Given the description of an element on the screen output the (x, y) to click on. 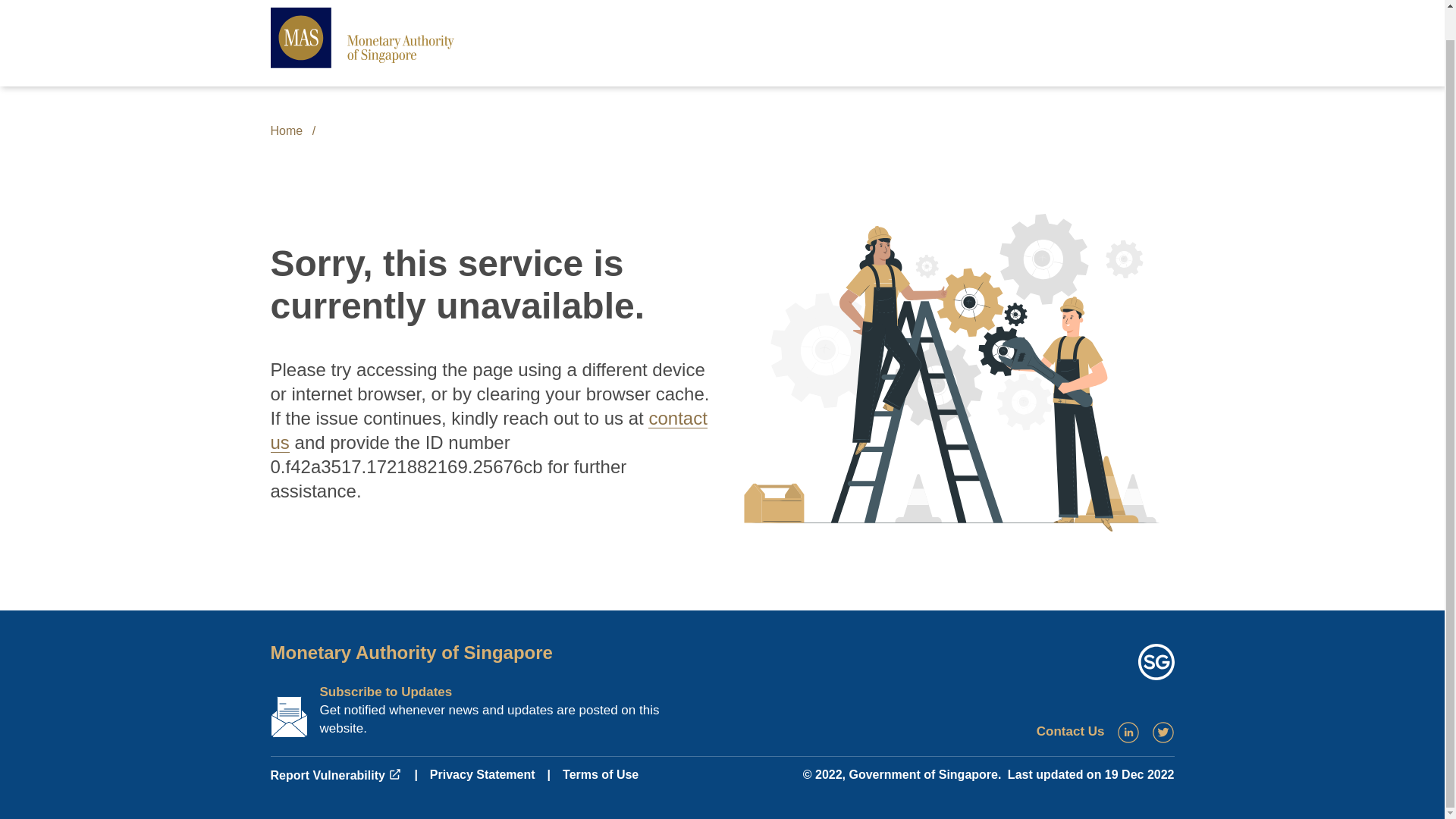
Terms of Use (600, 774)
Report Vulnerability (335, 775)
Contact Us (1070, 730)
Privacy Statement (482, 774)
Monetary Authority of Singapore (410, 652)
contact us (487, 429)
Home (285, 130)
